Given the description of an element on the screen output the (x, y) to click on. 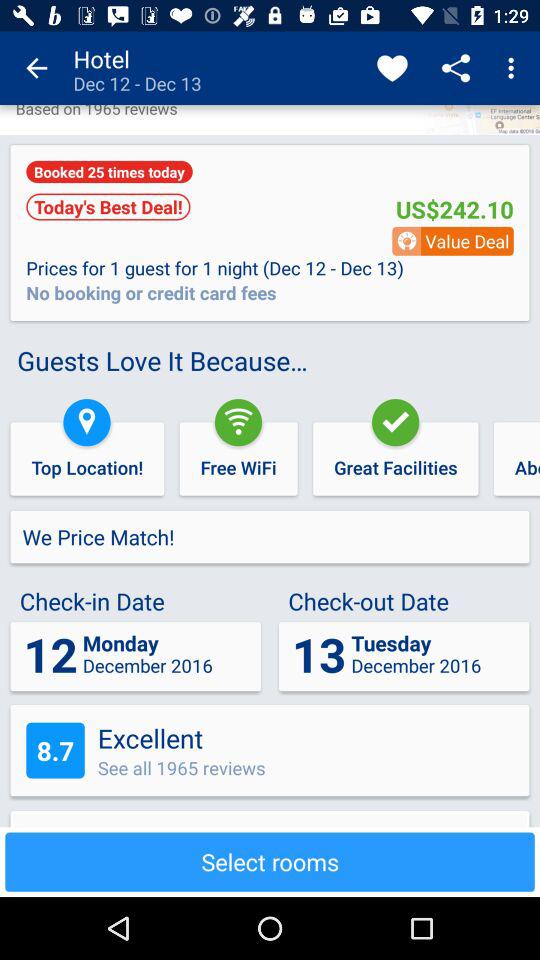
select the item next to the hotel dec 12 item (36, 68)
